Given the description of an element on the screen output the (x, y) to click on. 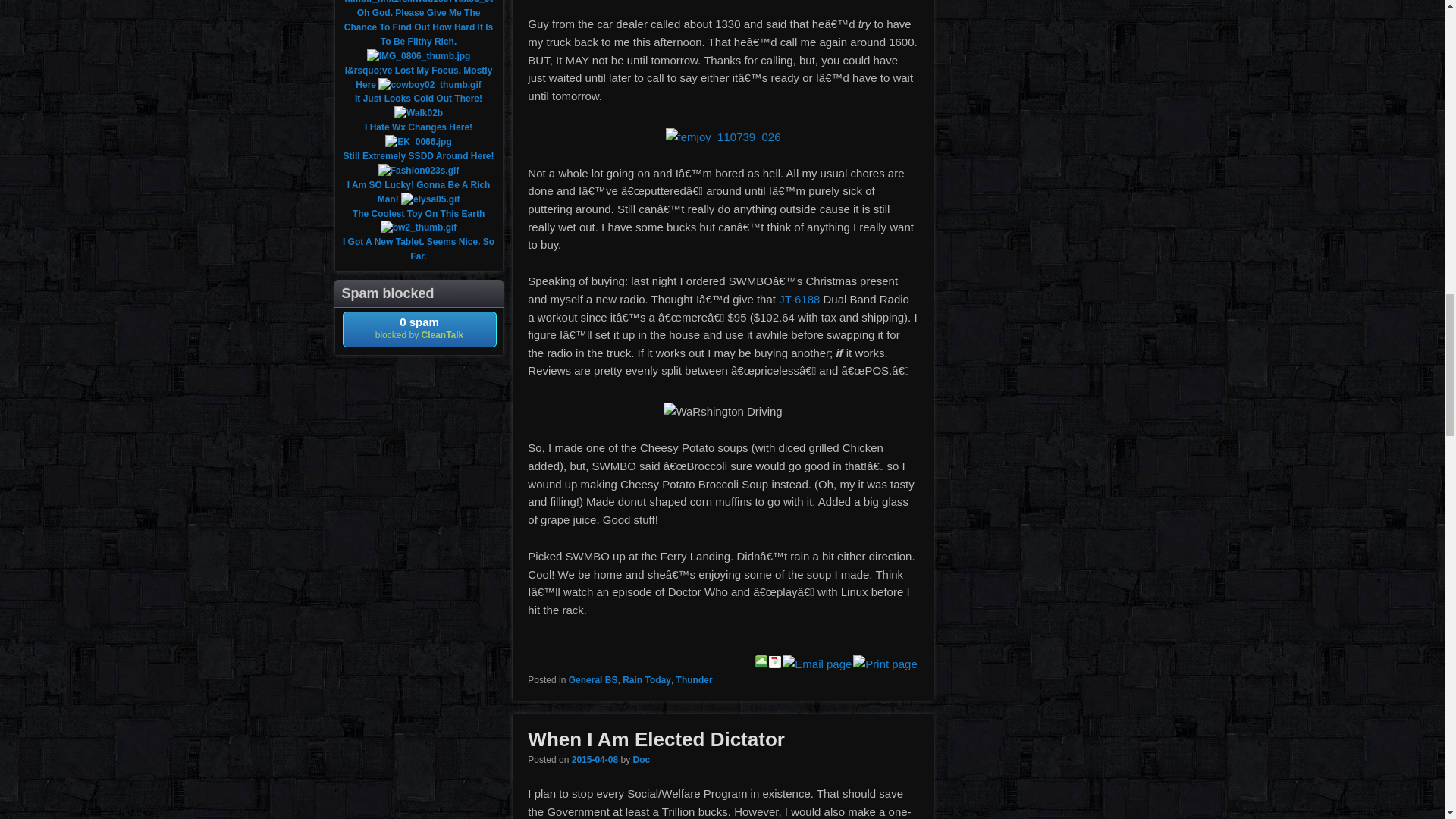
Rain Today (647, 679)
When I Am Elected Dictator (655, 739)
Doc (640, 759)
Thunder (695, 679)
General BS (593, 679)
2015-04-08 (594, 759)
JT-6188 (798, 298)
